Given the description of an element on the screen output the (x, y) to click on. 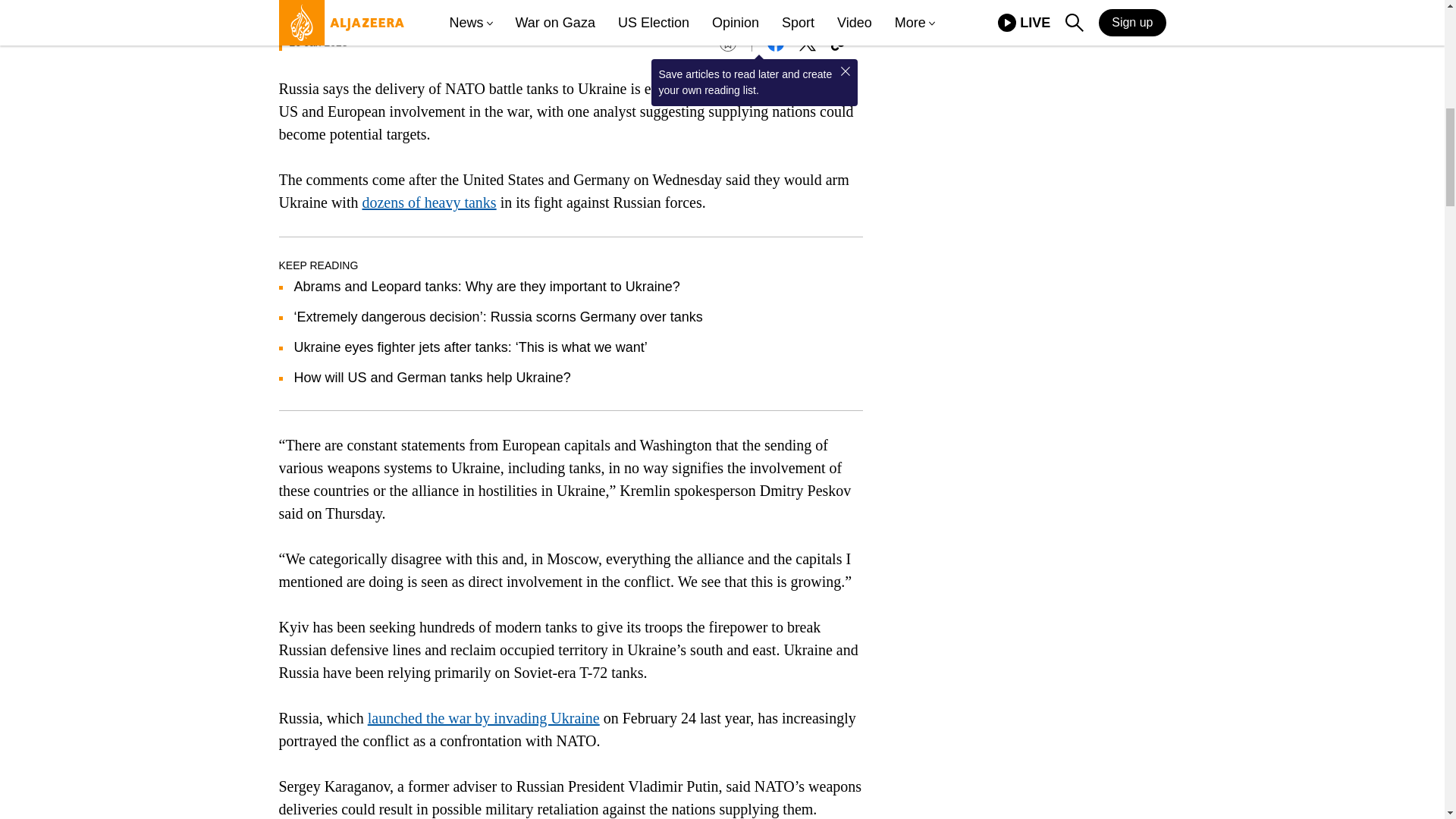
facebook (775, 43)
Close Tooltip (844, 70)
facebook (775, 43)
copylink (839, 43)
twitter (807, 43)
copylink (839, 43)
twitter (807, 43)
